Given the description of an element on the screen output the (x, y) to click on. 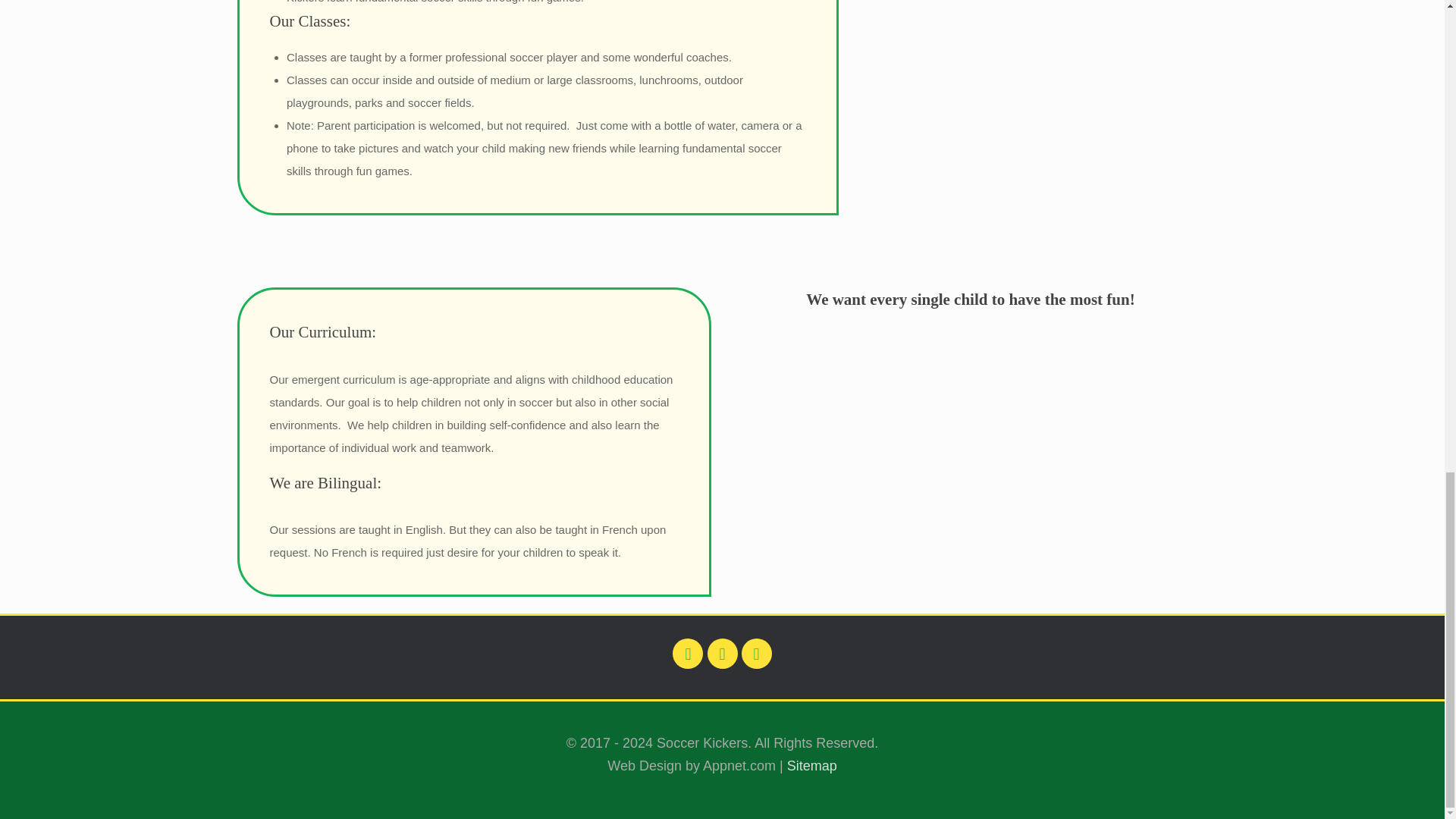
Soccer Kickers (970, 468)
Sitemap (812, 765)
